Given the description of an element on the screen output the (x, y) to click on. 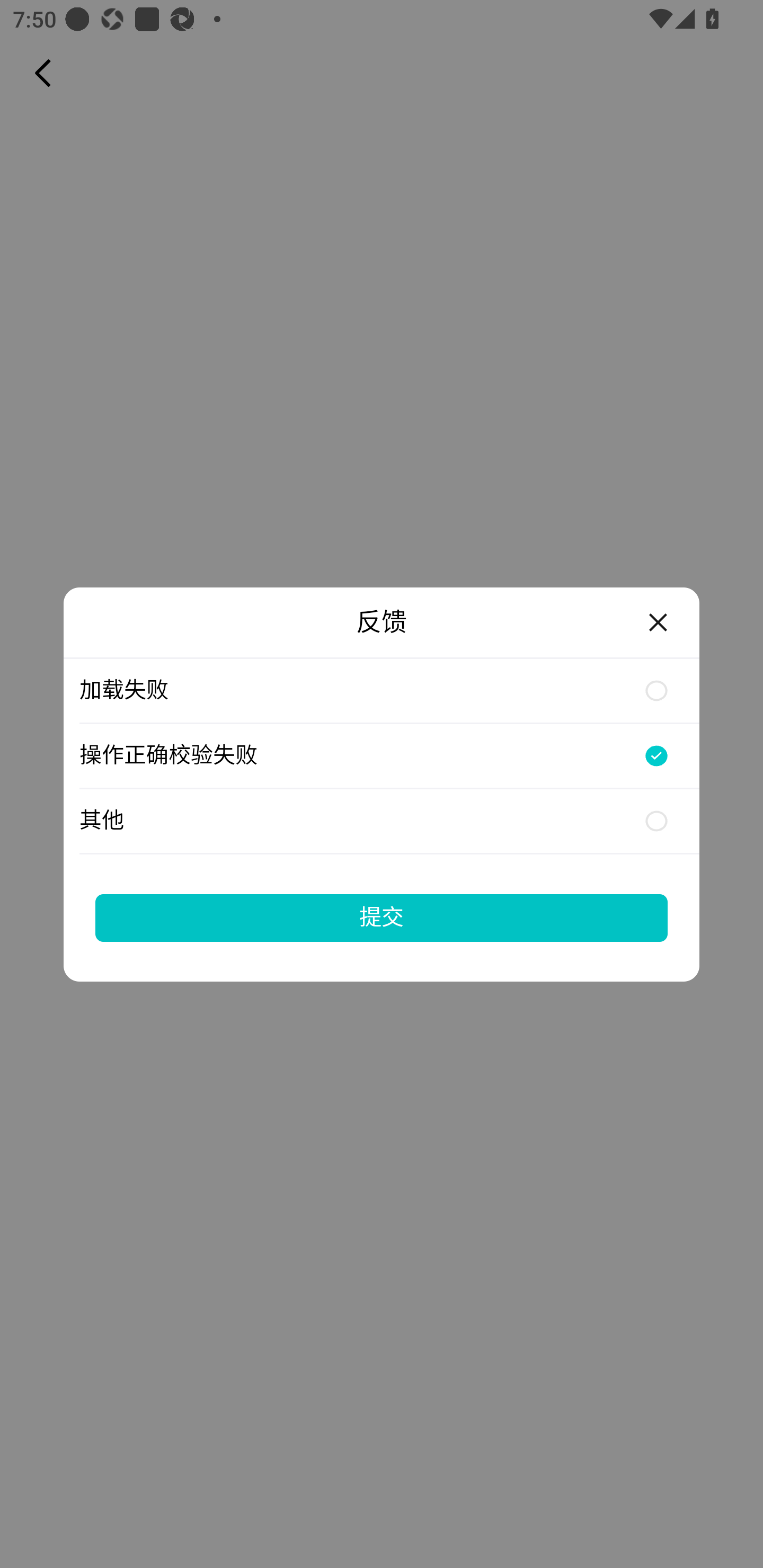
提交 (381, 917)
